Given the description of an element on the screen output the (x, y) to click on. 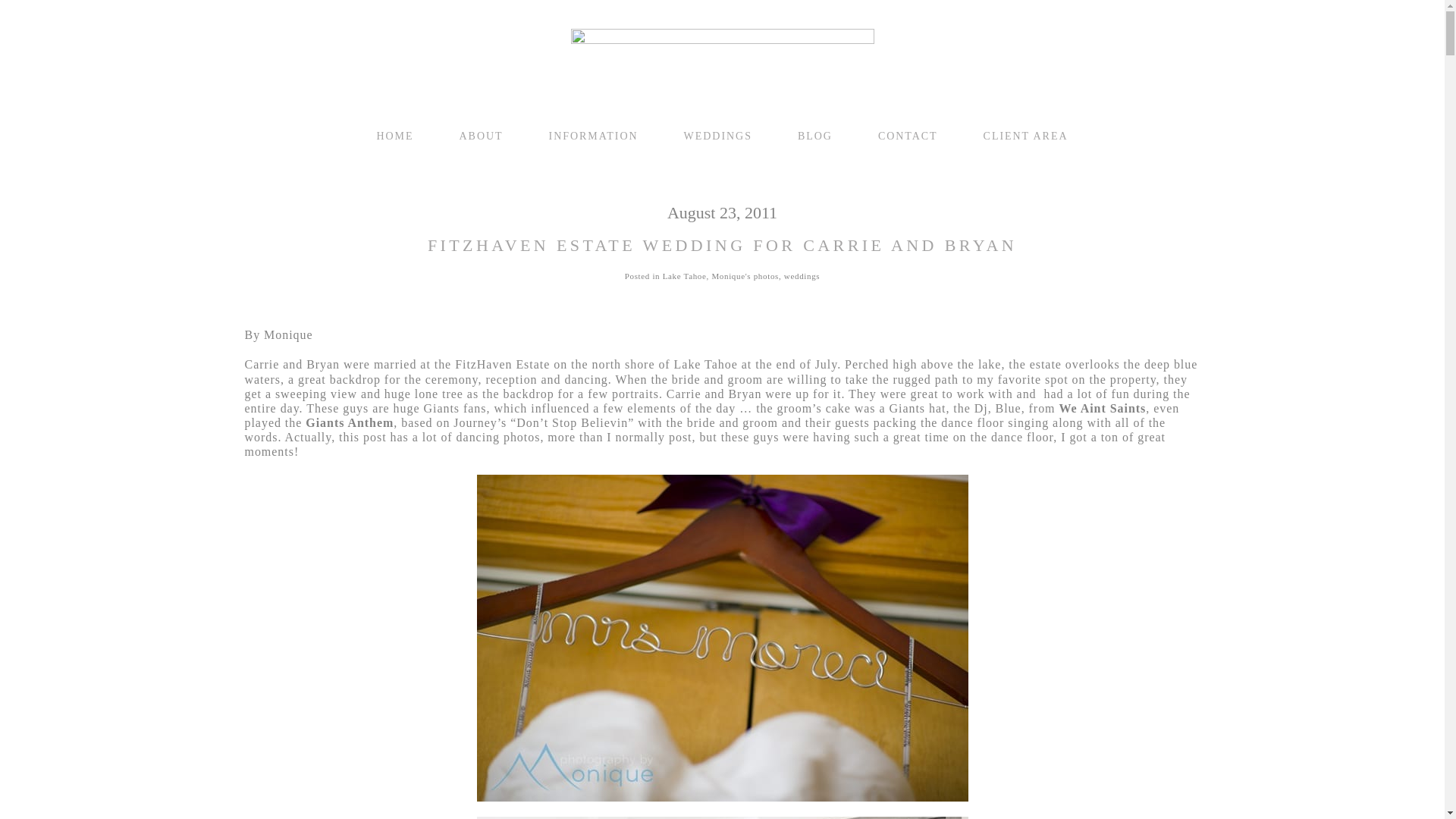
ABOUT (481, 135)
Giants Anthem (349, 422)
INFORMATION (593, 135)
Lake Tahoe (684, 275)
BLOG (814, 135)
CLIENT AREA (1026, 135)
CONTACT (907, 135)
HOME (394, 135)
